Given the description of an element on the screen output the (x, y) to click on. 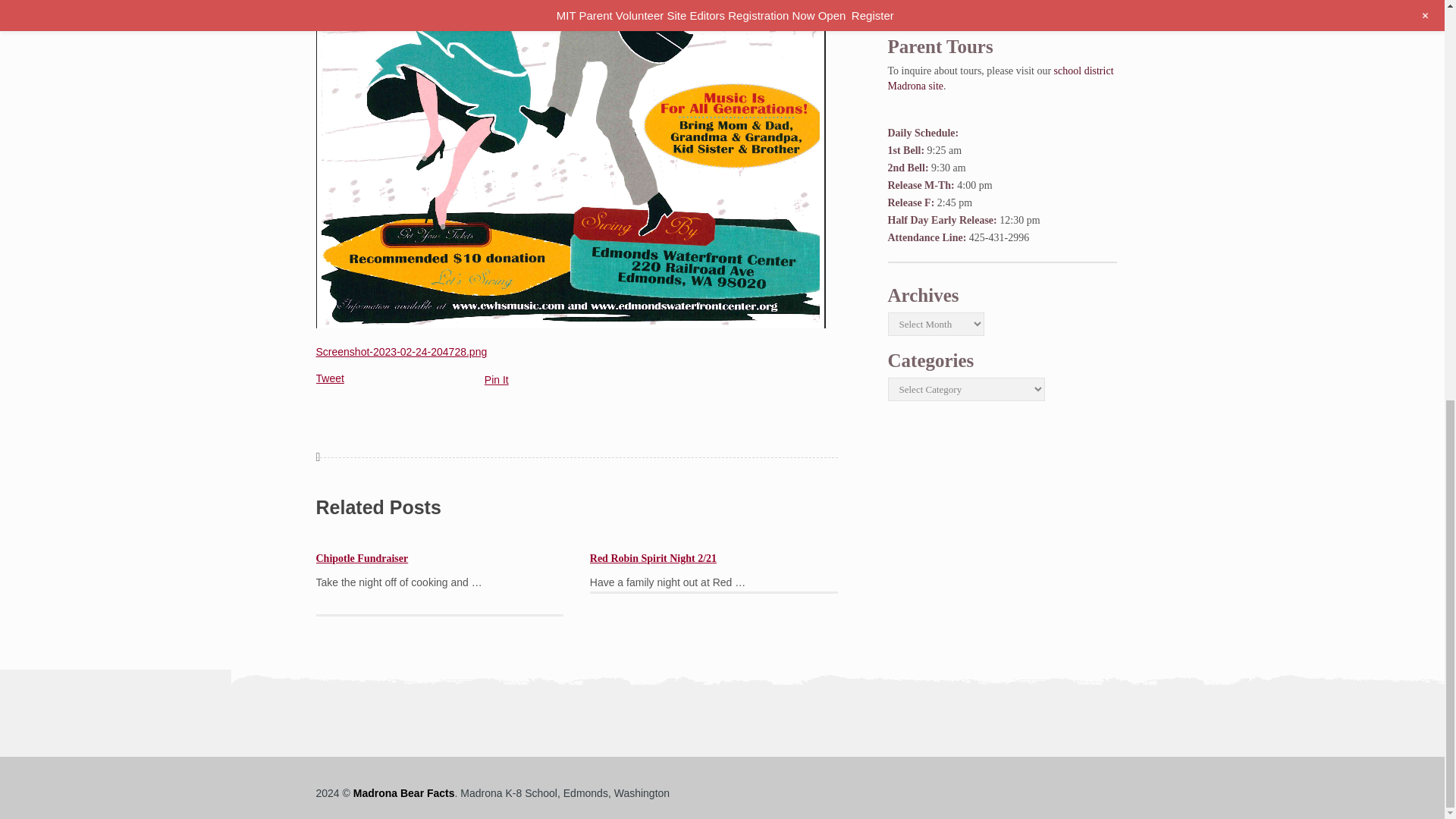
Chipotle Fundraiser (361, 558)
